Given the description of an element on the screen output the (x, y) to click on. 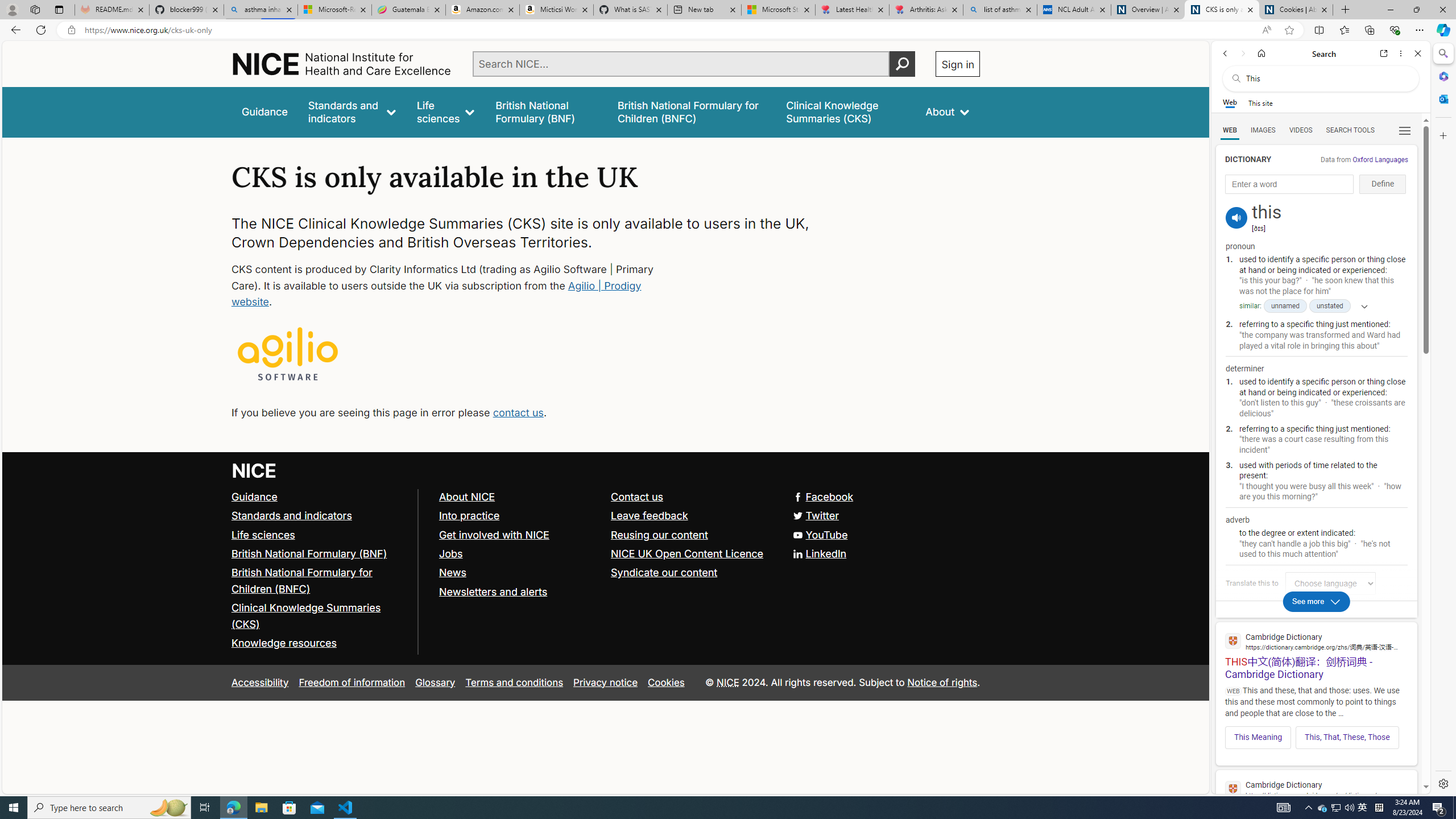
Oxford Languages (1379, 159)
Get involved with NICE (493, 534)
News (451, 571)
Reusing our content (659, 534)
App bar (728, 29)
Twitter (605, 515)
Privacy notice (605, 682)
This Meaning (1258, 737)
About (947, 111)
Home (1261, 53)
Microsoft Start (777, 9)
Search Filter, VIDEOS (1300, 129)
This MeaningThis, That, These, Those (1315, 734)
Show more (1360, 305)
